Given the description of an element on the screen output the (x, y) to click on. 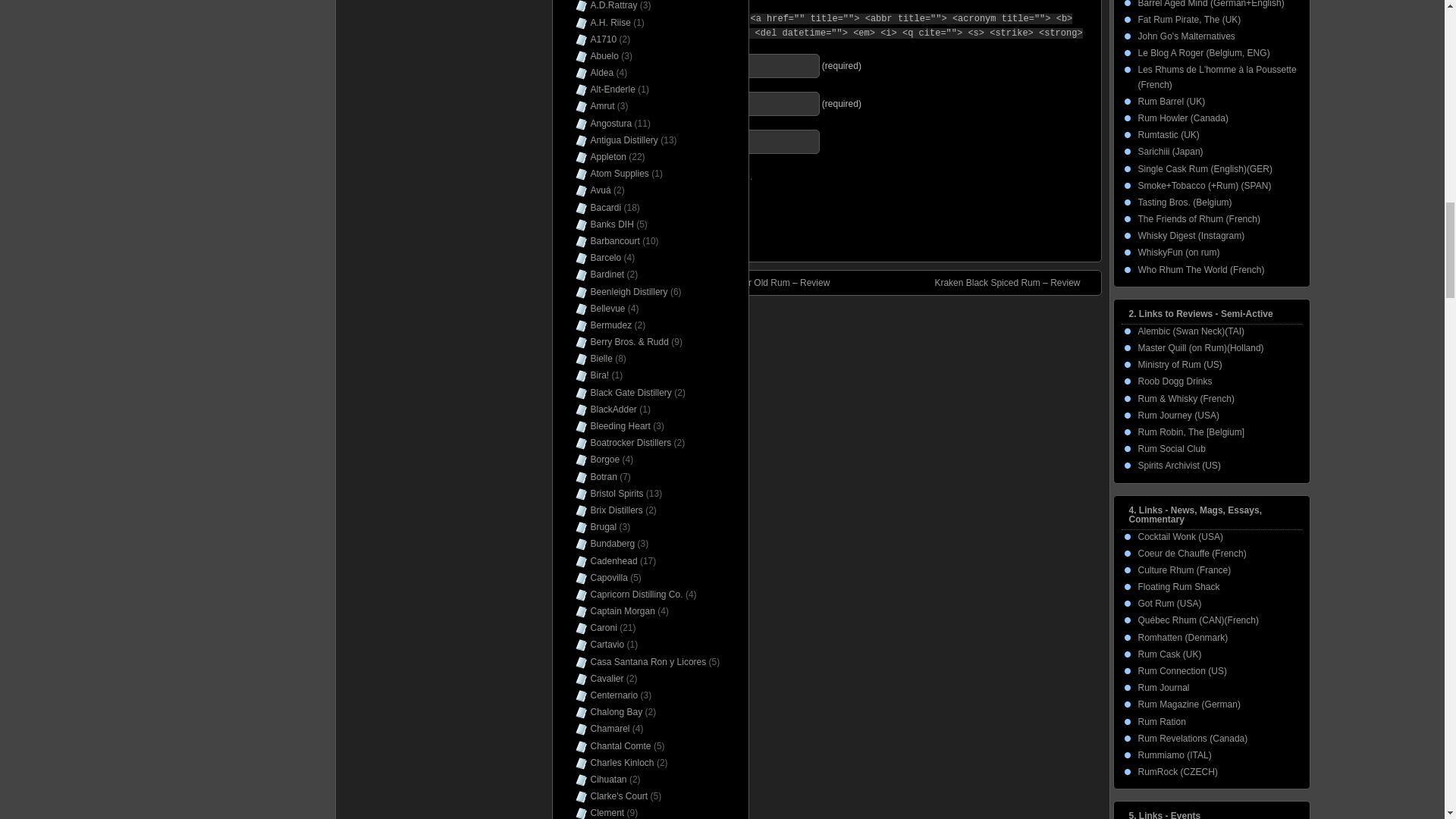
subscribe (571, 199)
Submit Comment (615, 228)
HyperText Markup Language (654, 18)
subscribe (571, 174)
